Given the description of an element on the screen output the (x, y) to click on. 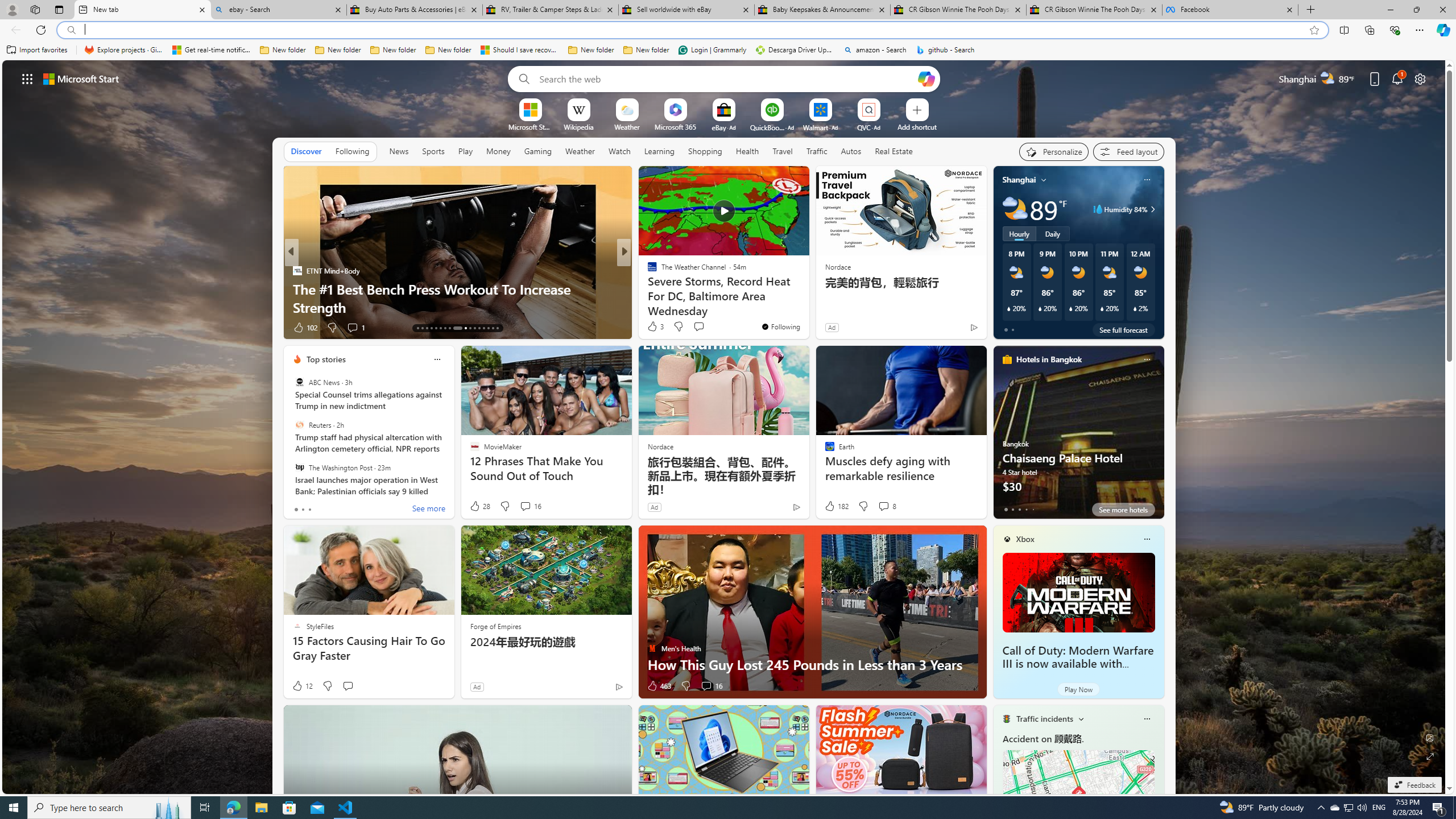
NBC News (647, 270)
View comments 167 Comment (709, 327)
Shanghai (1018, 179)
Special Personal Offer (807, 307)
View comments 96 Comment (6, 327)
